Given the description of an element on the screen output the (x, y) to click on. 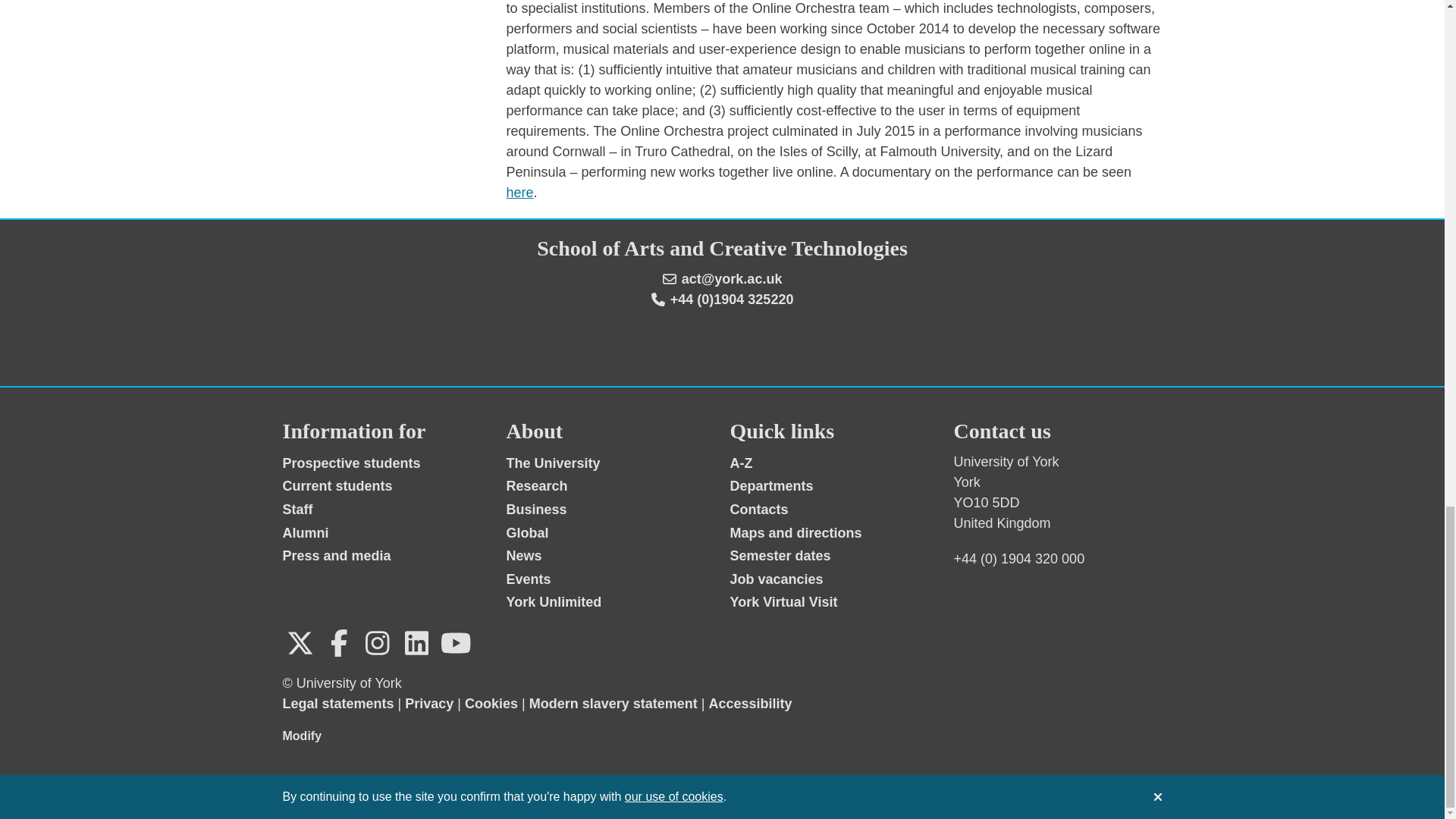
Follow us on LinkedIn (415, 642)
Like us on Facebook (338, 642)
Follow us on Instagram (376, 642)
Follow us on X (299, 642)
Watch our videos on YouTube (455, 642)
